Given the description of an element on the screen output the (x, y) to click on. 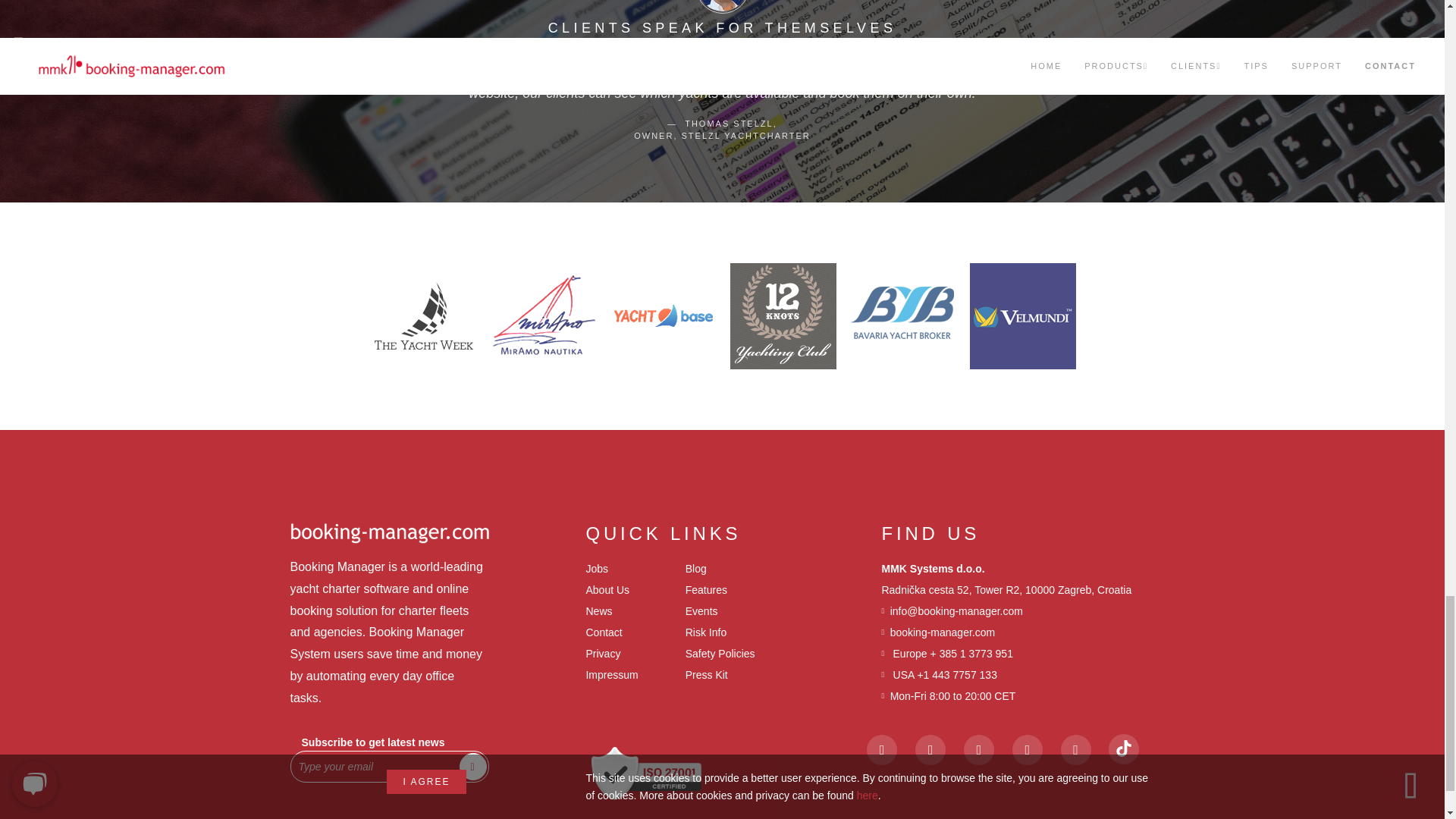
News (598, 611)
About Us (606, 589)
Contact (603, 632)
Jobs (596, 568)
